Given the description of an element on the screen output the (x, y) to click on. 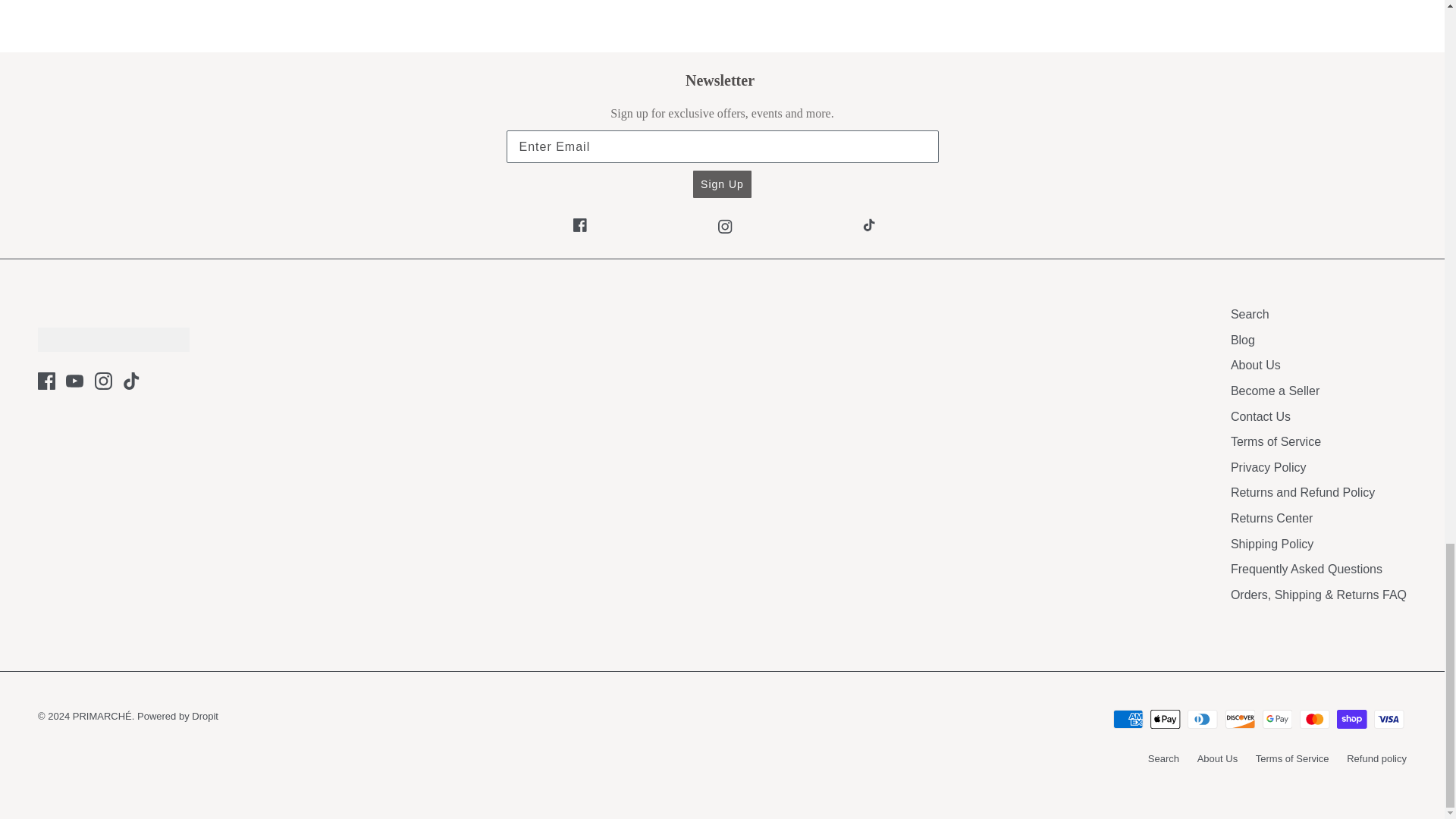
Instagram (103, 380)
Facebook (46, 380)
Shop Pay (1351, 719)
Youtube (73, 380)
Visa (1388, 719)
Apple Pay (1165, 719)
American Express (1127, 719)
Diners Club (1202, 719)
Google Pay (1277, 719)
Discover (1240, 719)
Mastercard (1314, 719)
